Given the description of an element on the screen output the (x, y) to click on. 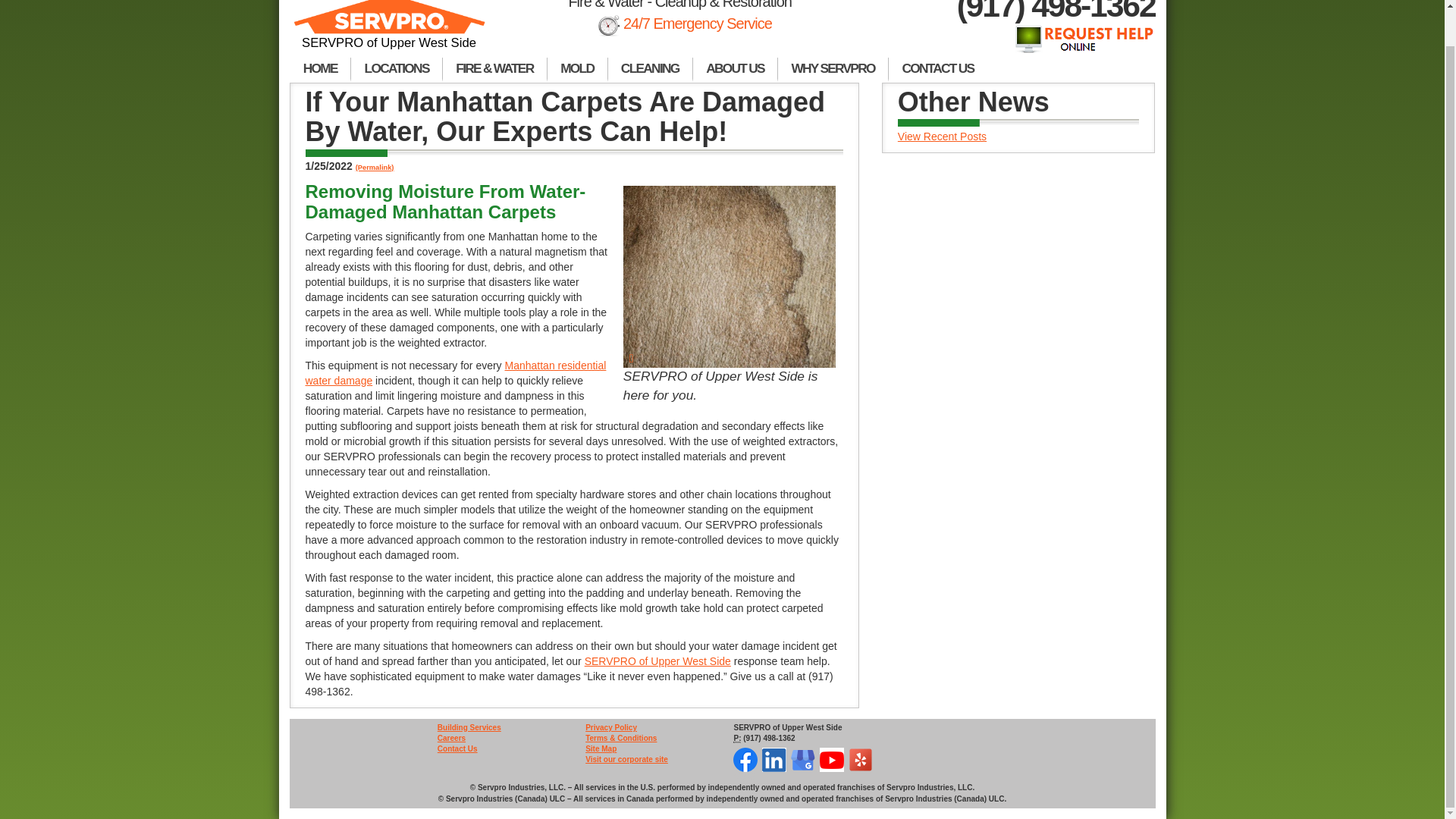
SERVPRO of Upper West Side (389, 27)
LOCATIONS (396, 69)
HOME (319, 69)
MOLD (577, 69)
CLEANING (650, 69)
